Given the description of an element on the screen output the (x, y) to click on. 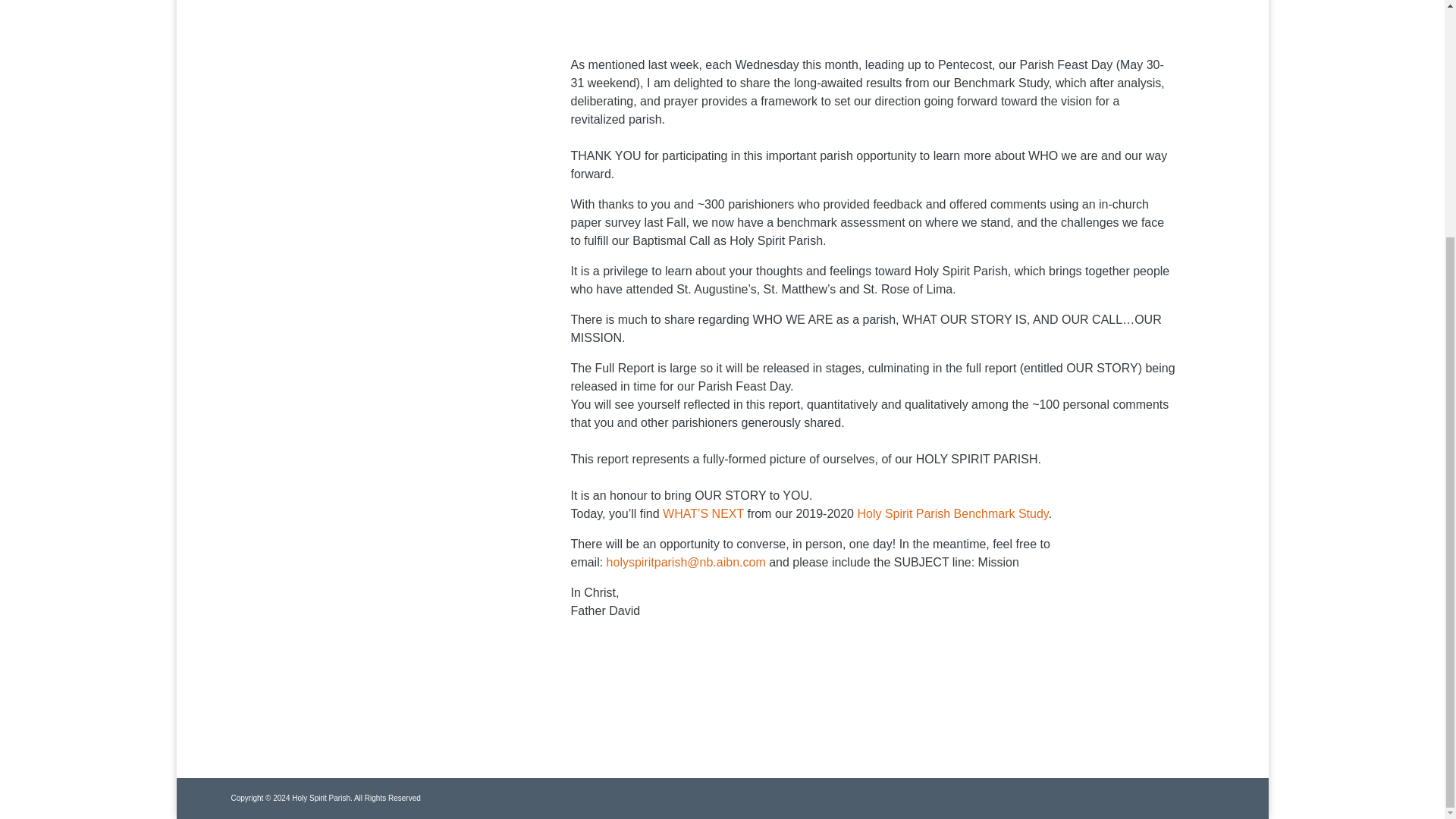
Posts by Fr David Martin (687, 6)
Holy Spirit Parish Benchmark Study (952, 513)
Asset 1 (342, 132)
Fr David Martin (687, 6)
